Given the description of an element on the screen output the (x, y) to click on. 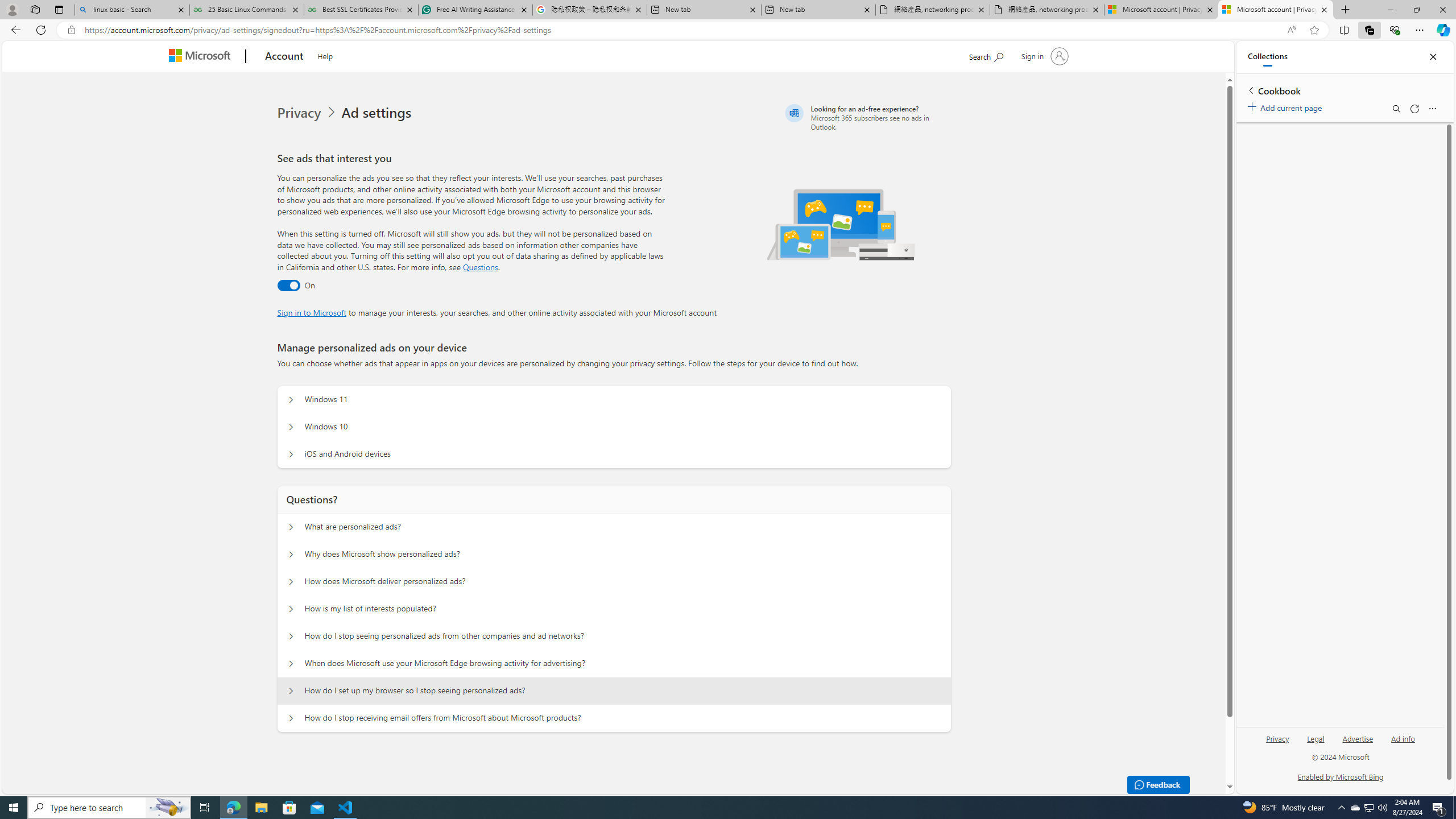
Free AI Writing Assistance for Students | Grammarly (475, 9)
Legal (1315, 738)
Best SSL Certificates Provider in India - GeeksforGeeks (360, 9)
Privacy (1277, 742)
Sign in to Microsoft (311, 311)
Legal (1315, 742)
